Given the description of an element on the screen output the (x, y) to click on. 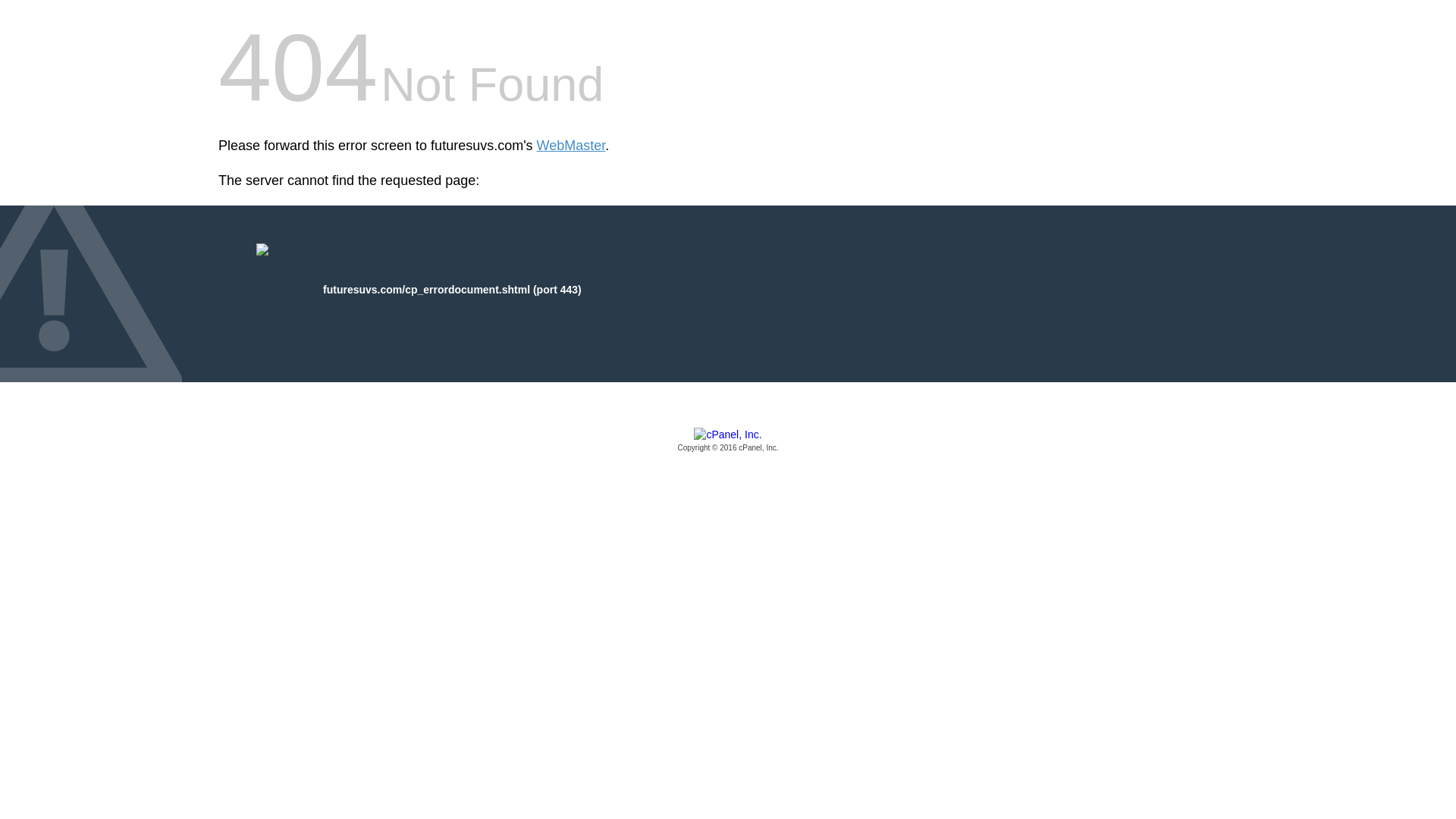
cPanel, Inc. (727, 440)
WebMaster (571, 145)
